Given the description of an element on the screen output the (x, y) to click on. 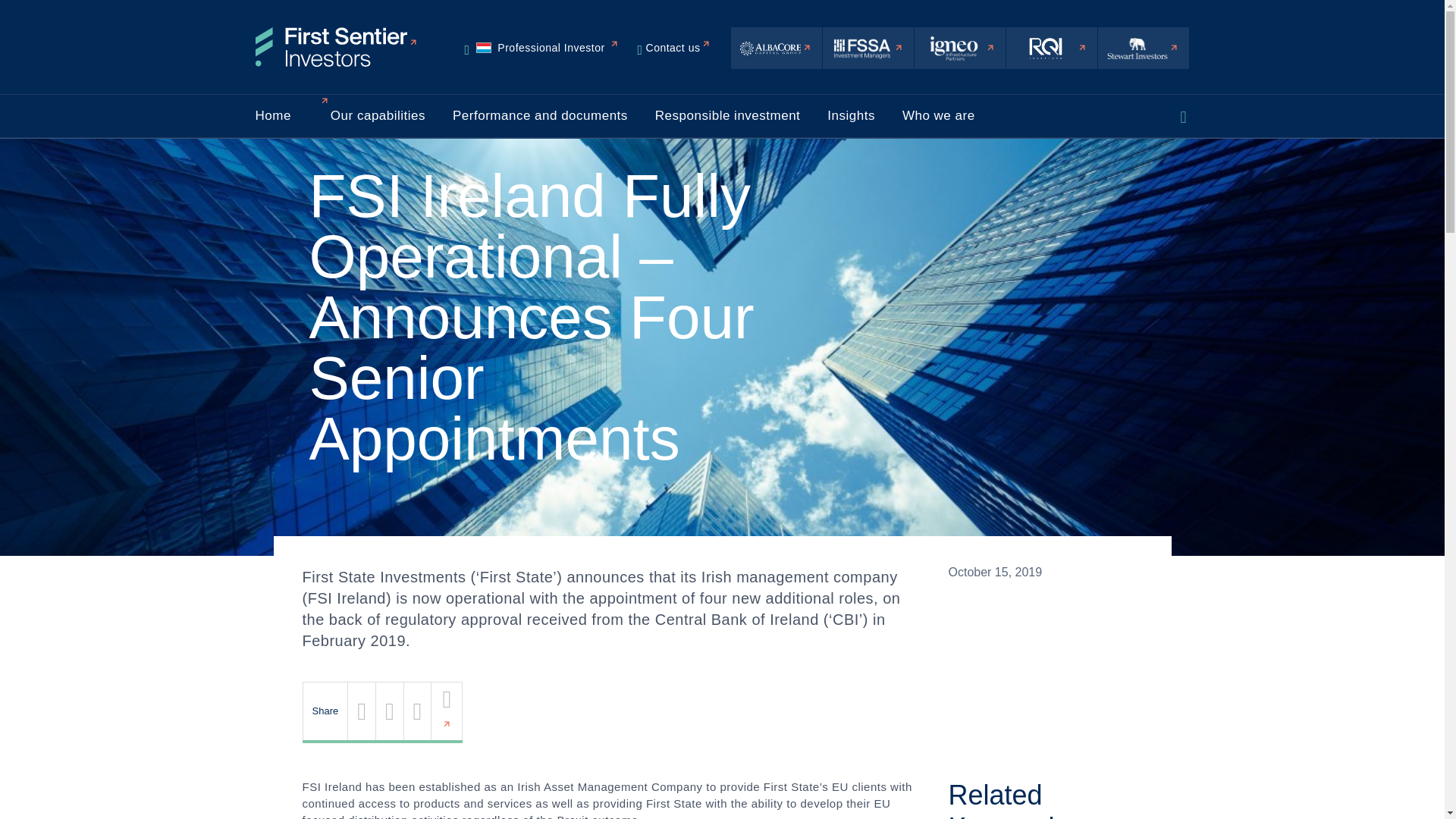
Contact us (542, 47)
